Given the description of an element on the screen output the (x, y) to click on. 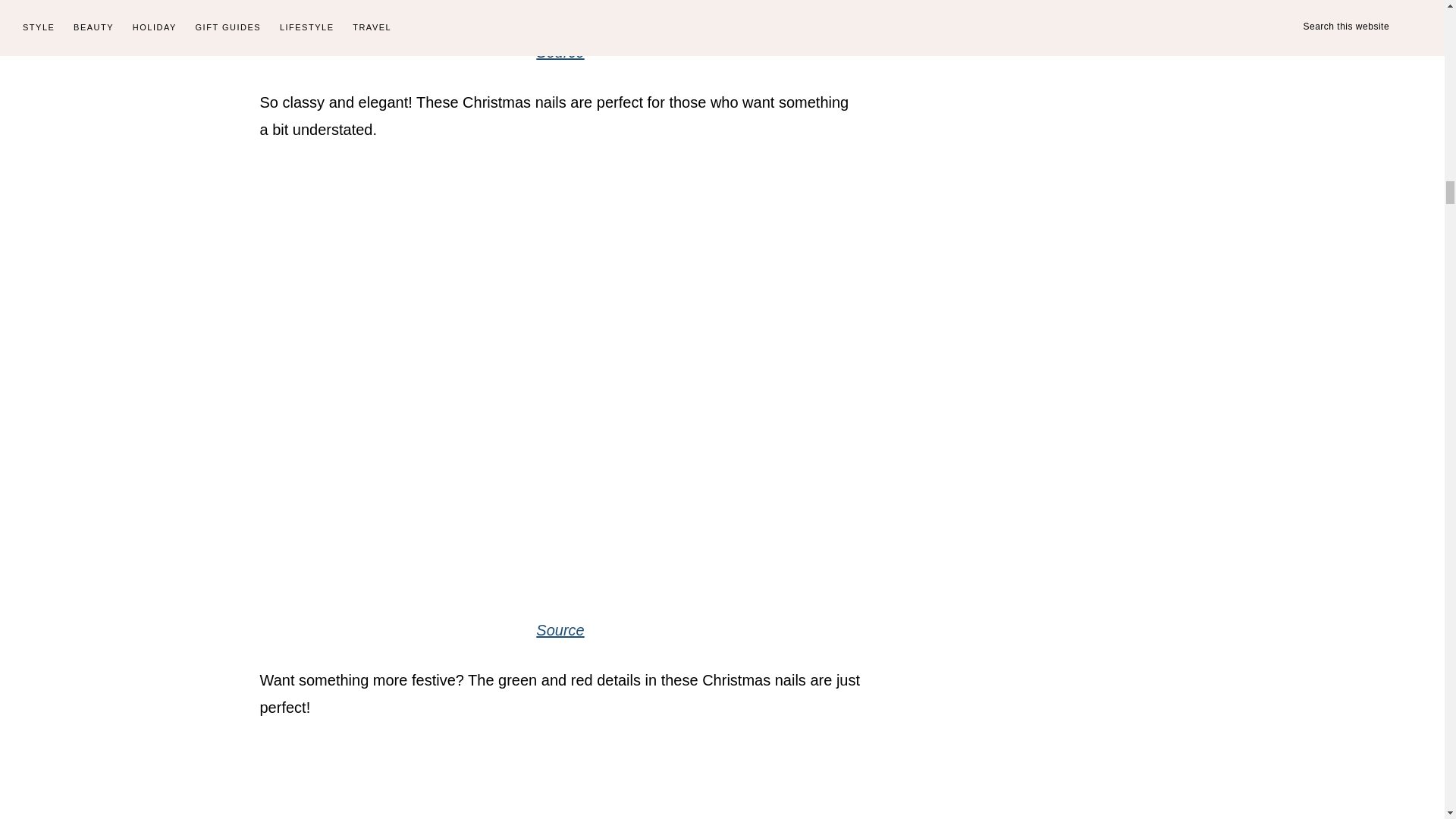
Source (559, 52)
